Given the description of an element on the screen output the (x, y) to click on. 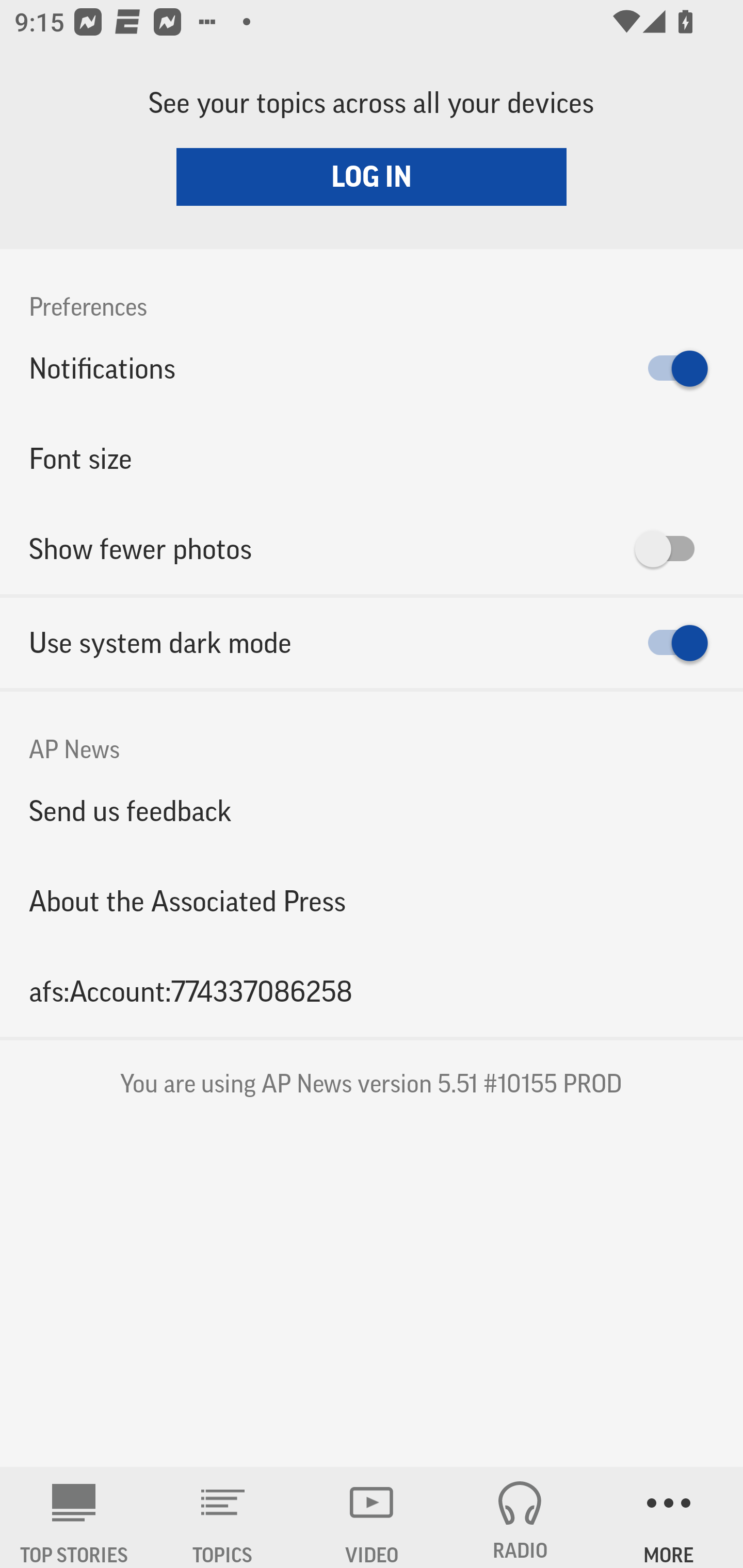
LOG IN (371, 176)
Notifications (371, 368)
Font size (371, 458)
Show fewer photos (371, 548)
Use system dark mode (371, 642)
Send us feedback (371, 810)
About the Associated Press (371, 901)
afs:Account:774337086258 (371, 991)
AP News TOP STORIES (74, 1517)
TOPICS (222, 1517)
VIDEO (371, 1517)
RADIO (519, 1517)
MORE (668, 1517)
